Given the description of an element on the screen output the (x, y) to click on. 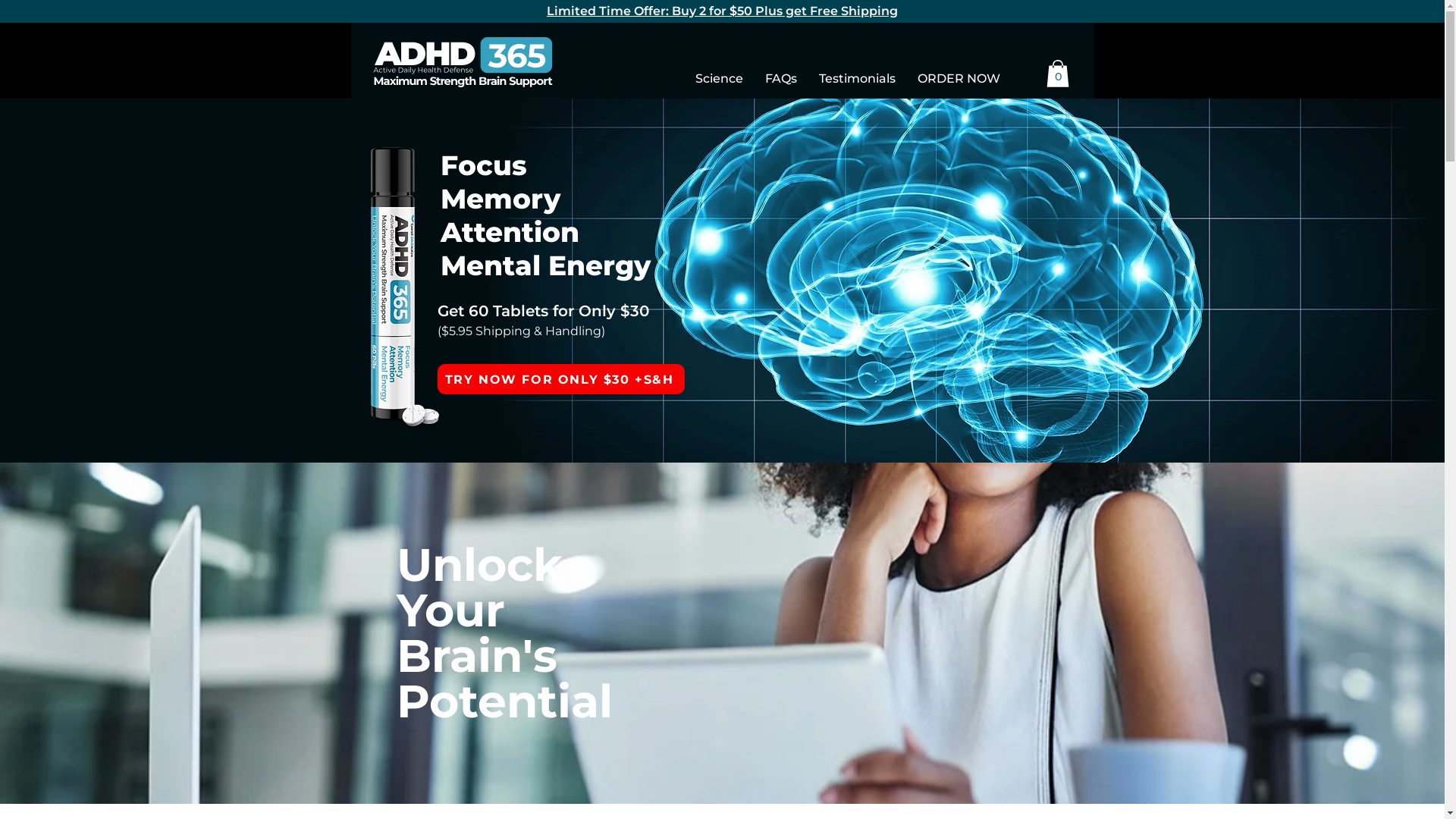
ORDER NOW Element type: text (958, 78)
Testimonials Element type: text (857, 78)
TRY NOW FOR ONLY $30 +S&H Element type: text (560, 379)
0 Element type: text (1057, 73)
Science Element type: text (718, 78)
Limited Time Offer: Buy 2 for $50 Plus get Free Shipping Element type: text (721, 10)
FAQs Element type: text (780, 78)
